Given the description of an element on the screen output the (x, y) to click on. 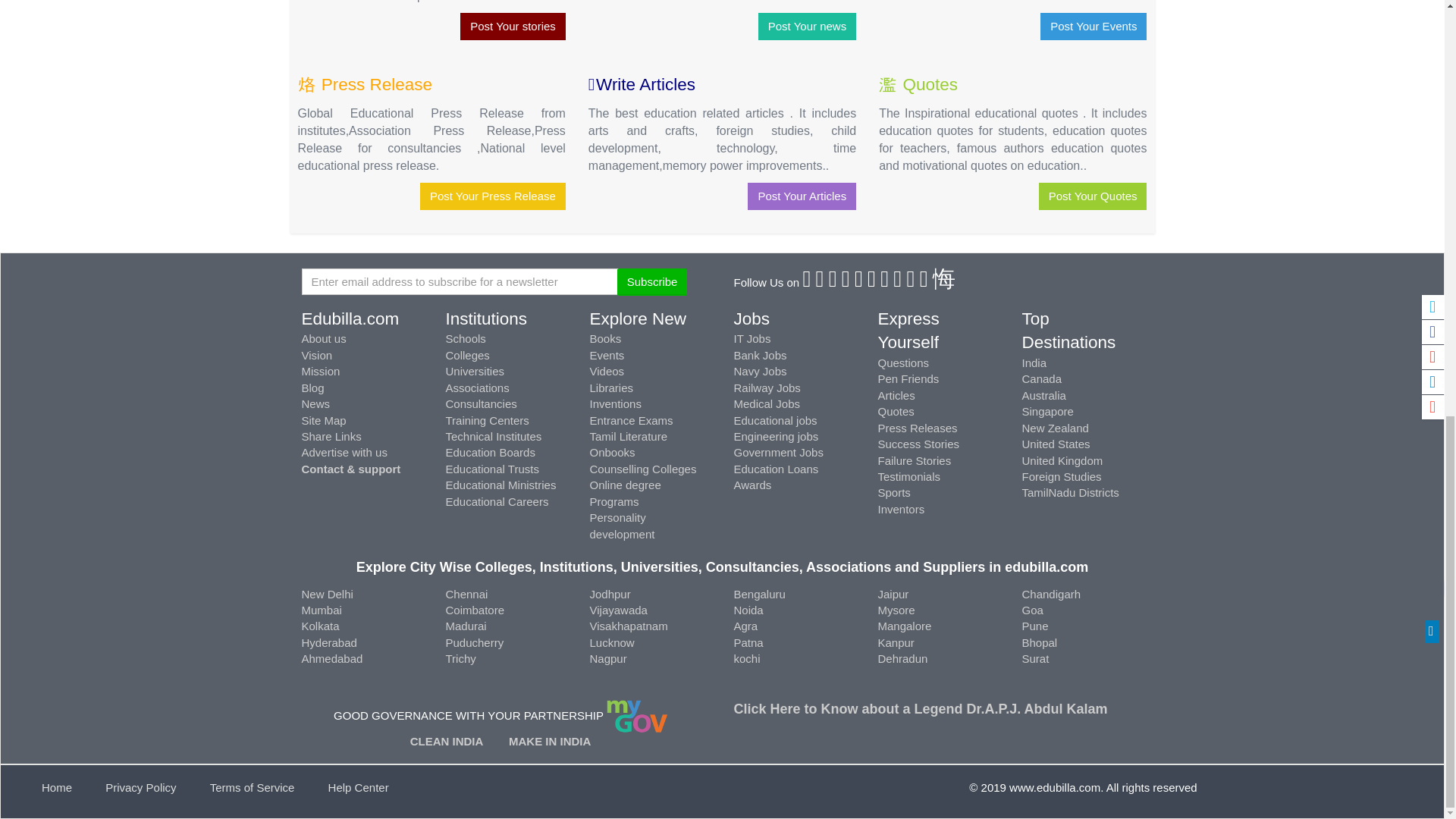
Pinterest (859, 282)
Subscribe (652, 281)
Wordpress (912, 282)
Quotes (930, 84)
Post Your Press Release (493, 195)
Post Your stories (513, 26)
YouTube (897, 282)
Press Release (374, 84)
Facebook (807, 282)
Slideshare (925, 282)
Tumblr (872, 282)
My Government (636, 715)
Post Your Quotes (1093, 195)
flickr (884, 282)
Linkedin (846, 282)
